Given the description of an element on the screen output the (x, y) to click on. 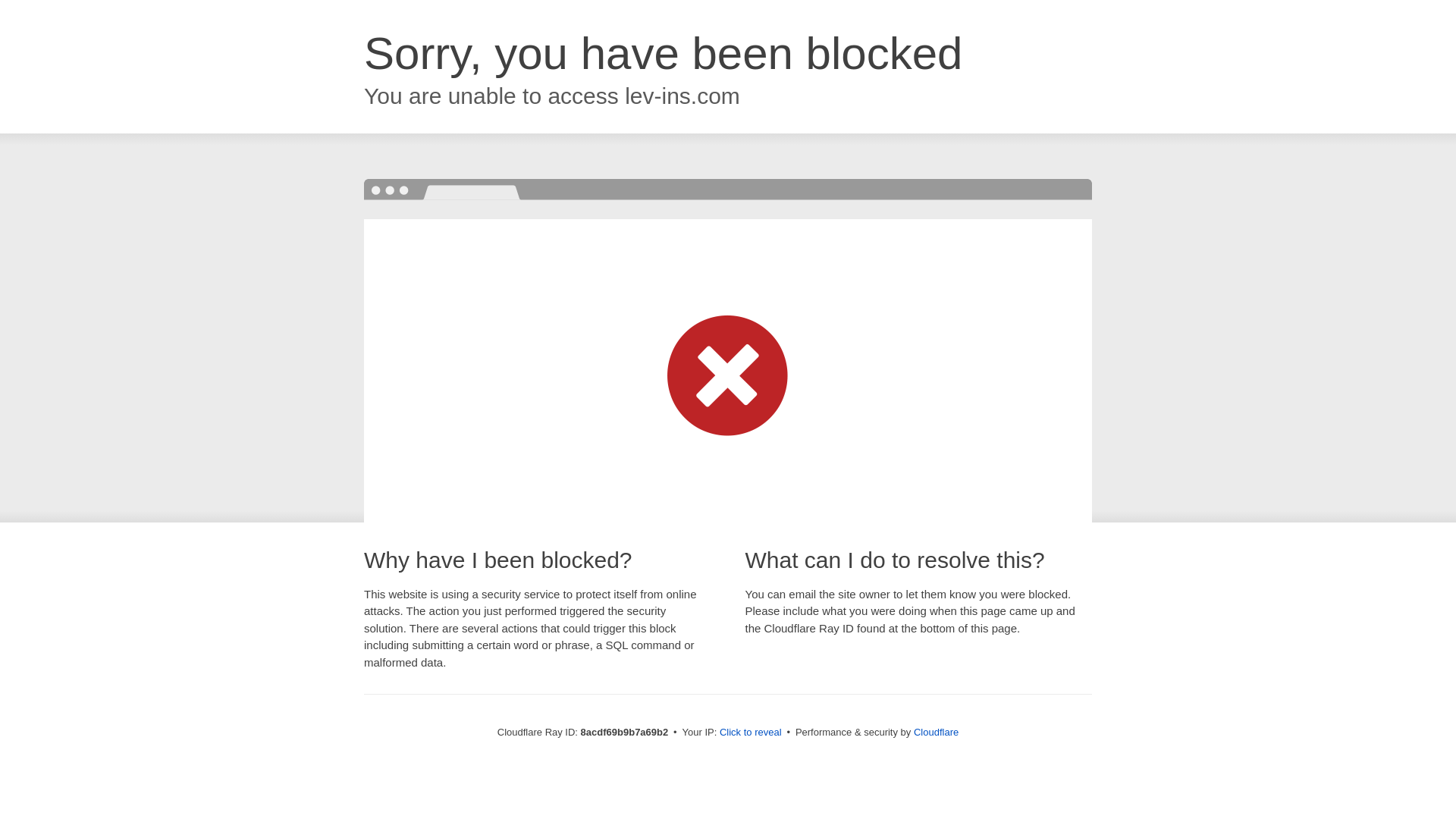
Cloudflare (936, 731)
Click to reveal (750, 732)
